Given the description of an element on the screen output the (x, y) to click on. 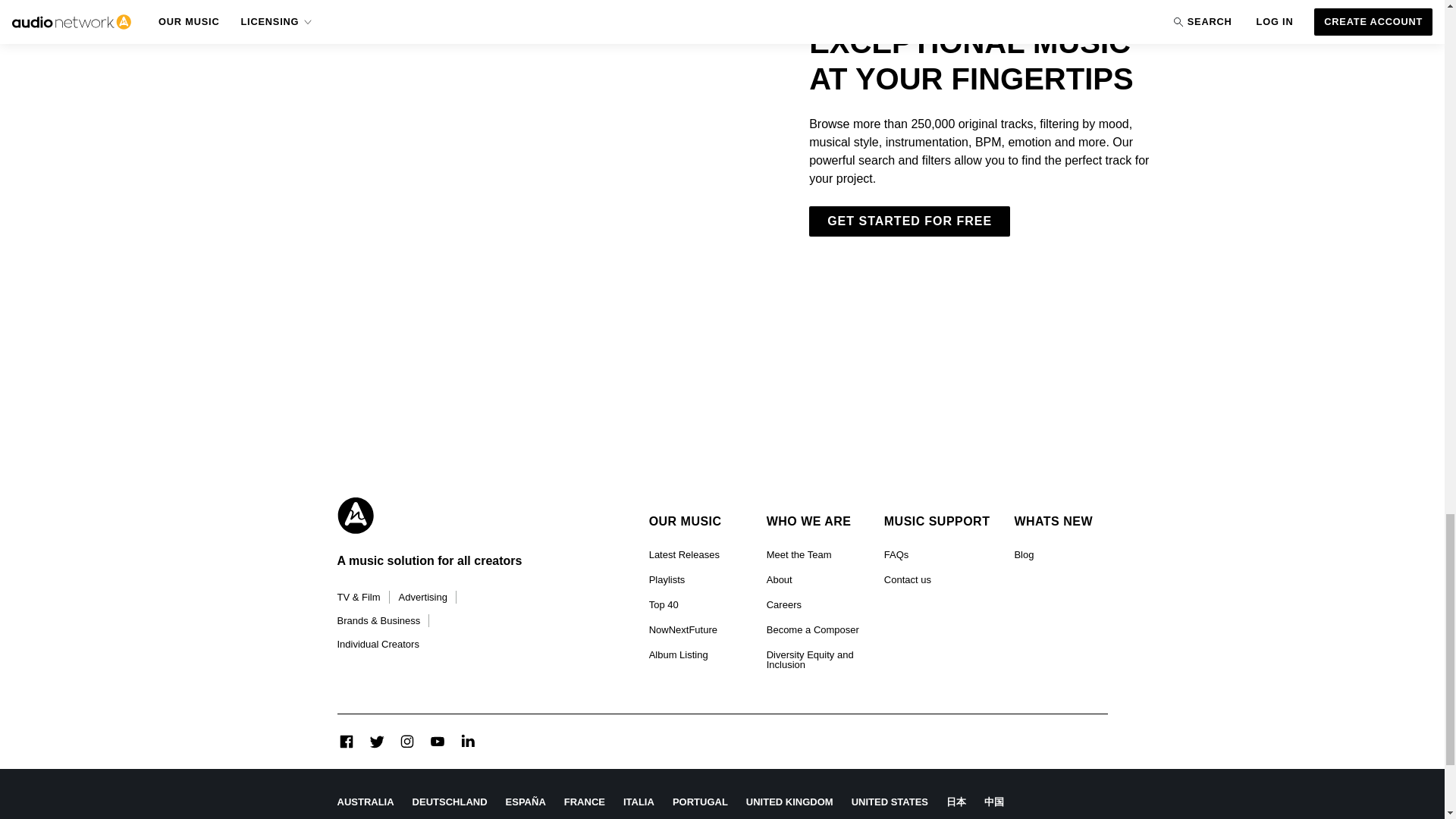
Playlists (667, 579)
Twitter (375, 741)
Album Listing (678, 654)
YouTube (436, 741)
Become a Composer (813, 629)
Diversity Equity and Inclusion (813, 659)
WHO WE ARE (813, 521)
NowNextFuture (683, 629)
Latest Releases (684, 554)
Individual Creators (377, 643)
